Given the description of an element on the screen output the (x, y) to click on. 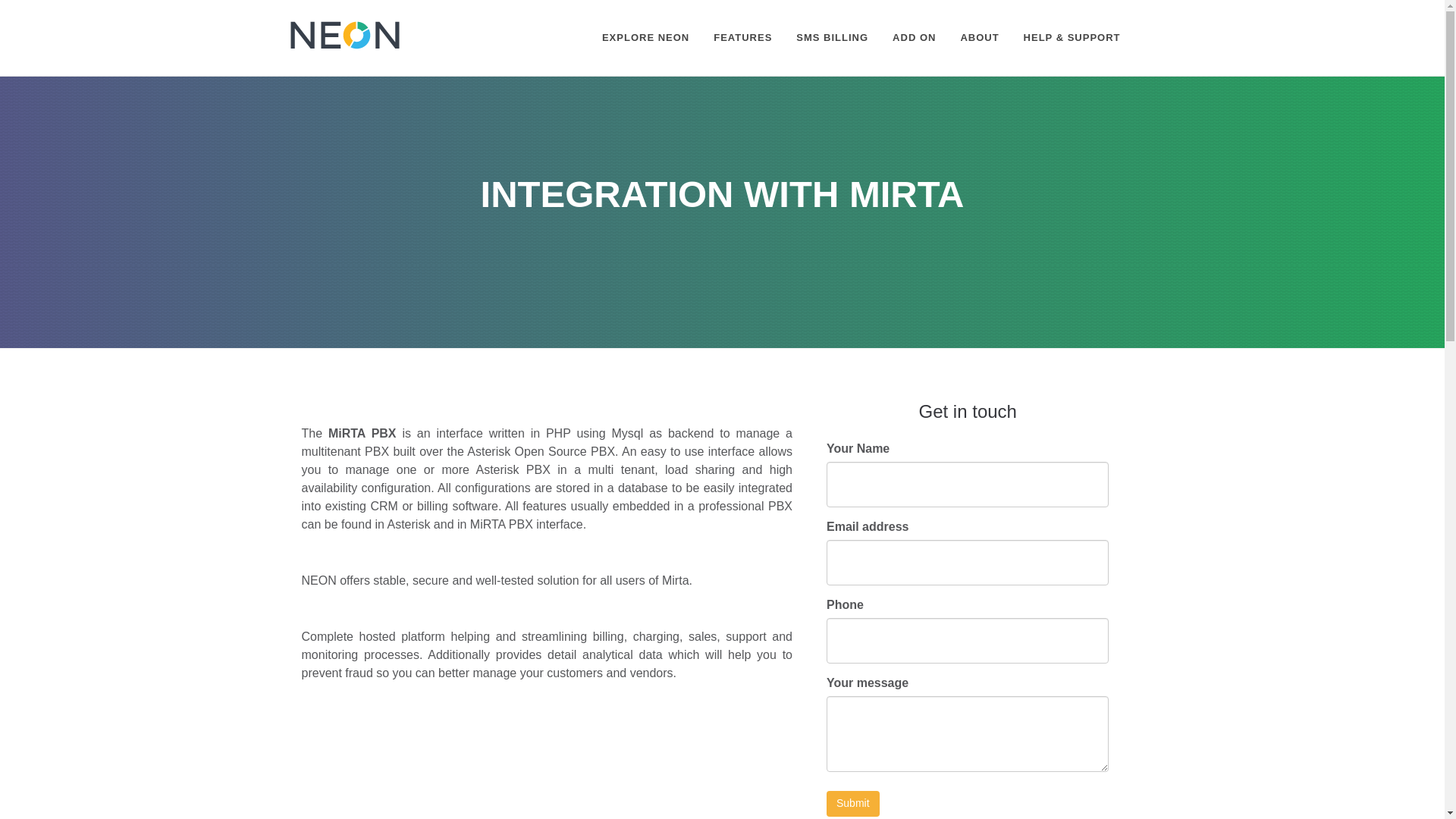
Submit (853, 803)
FEATURES (742, 38)
SMS BILLING (831, 38)
EXPLORE NEON (645, 38)
